Given the description of an element on the screen output the (x, y) to click on. 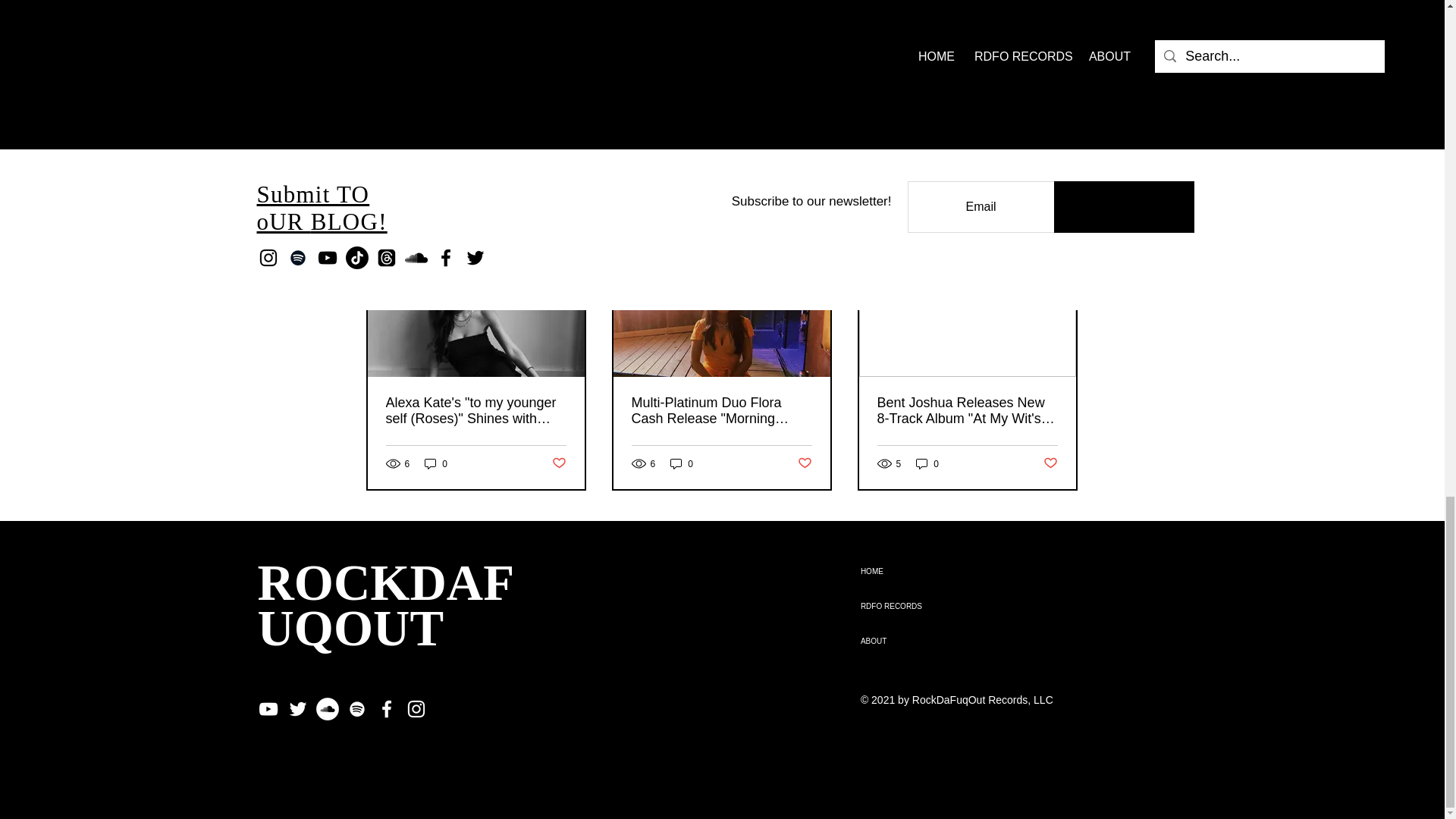
See All (1061, 227)
Post not marked as liked (995, 143)
